Given the description of an element on the screen output the (x, y) to click on. 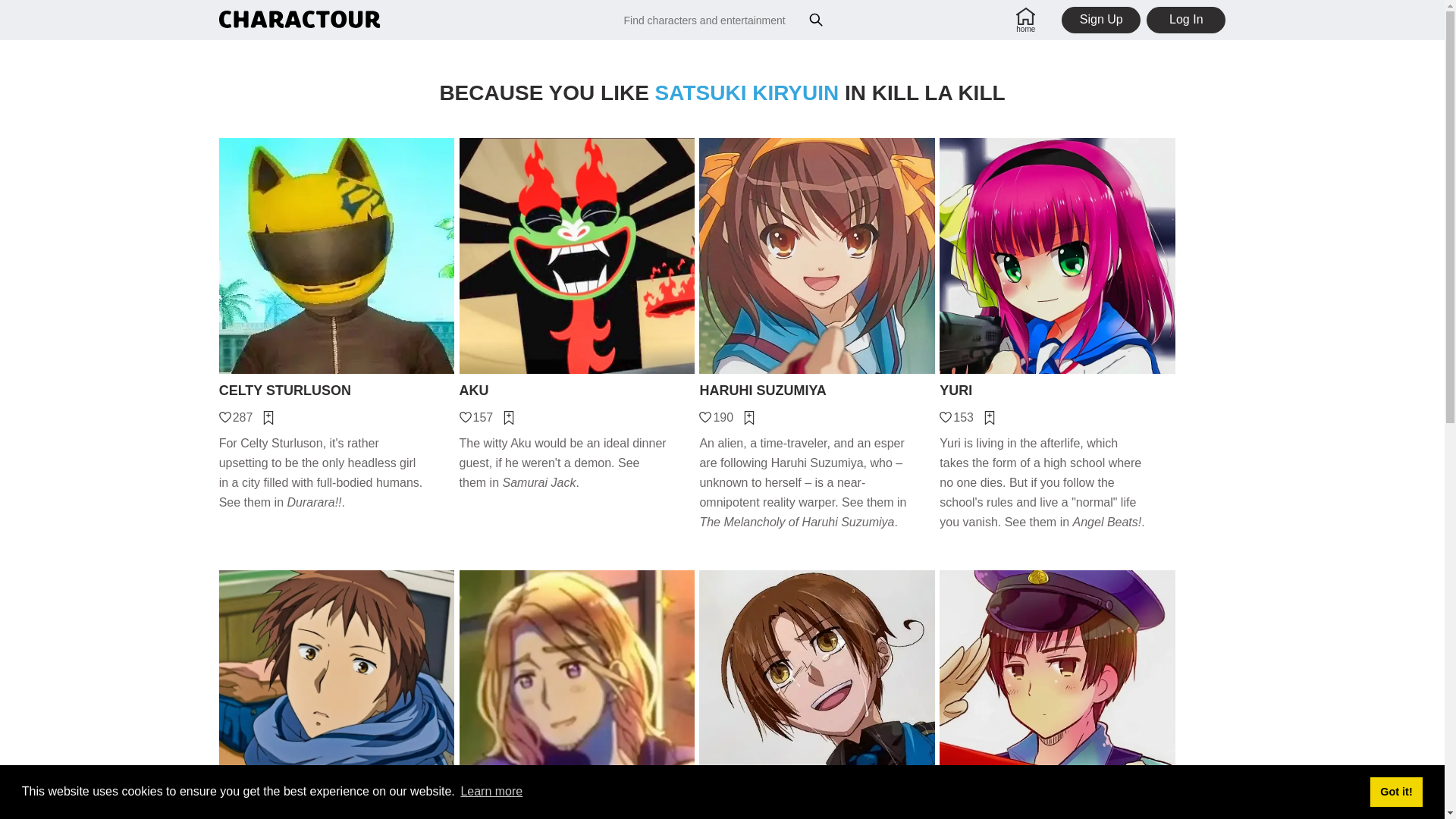
KYON (336, 816)
Sign Up (1100, 19)
YURI (1056, 390)
CELTY STURLUSON (336, 390)
FRANCE (577, 816)
Log In (1186, 19)
JAPAN (1056, 816)
Learn more (491, 791)
NORTH ITALY (816, 816)
Got it! (1396, 791)
AKU (577, 390)
HARUHI SUZUMIYA (816, 390)
SATSUKI KIRYUIN (747, 92)
